Given the description of an element on the screen output the (x, y) to click on. 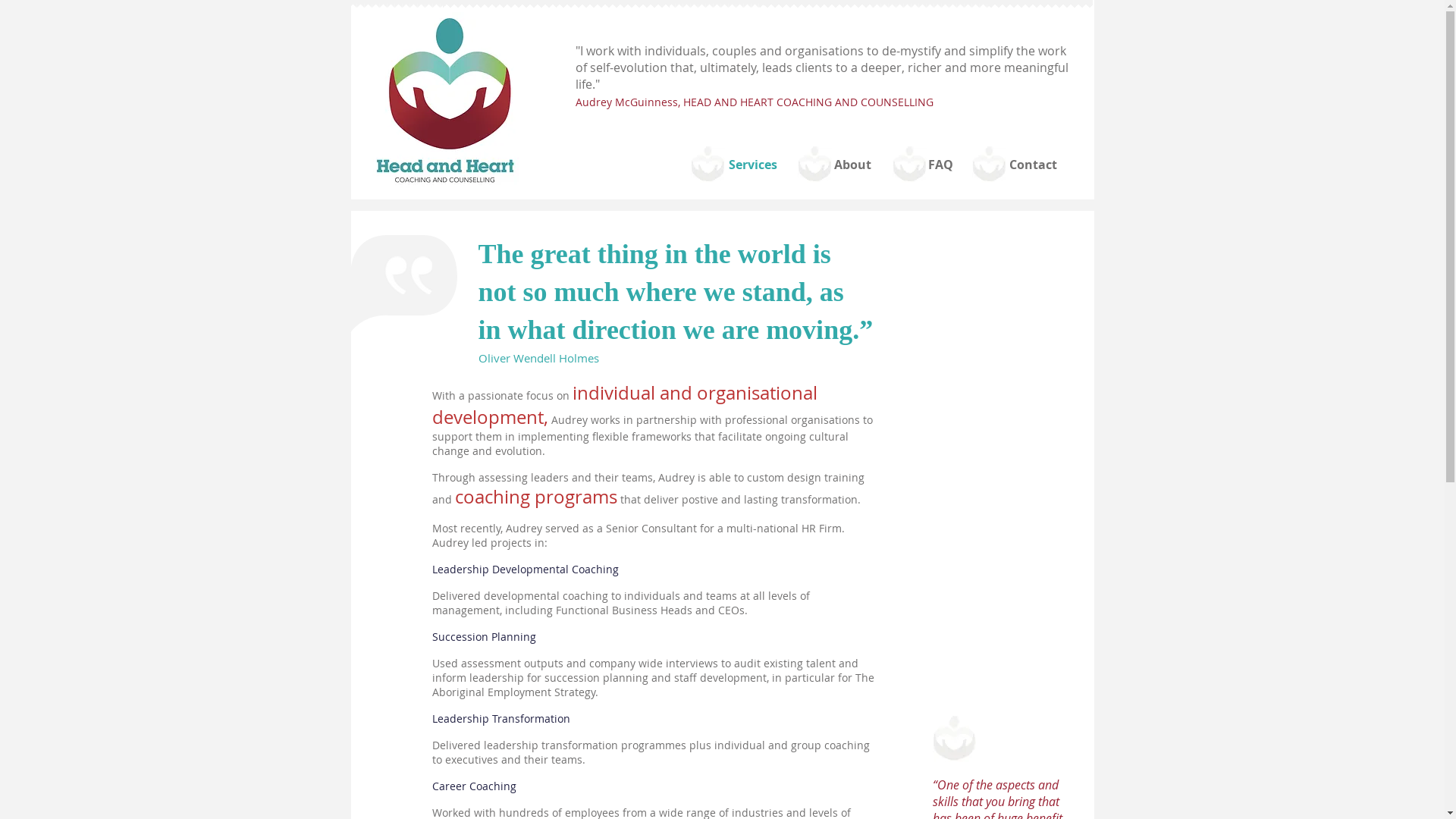
Contact Element type: text (1033, 164)
FAQ Element type: text (939, 164)
Services Element type: text (753, 164)
About Element type: text (852, 164)
